Given the description of an element on the screen output the (x, y) to click on. 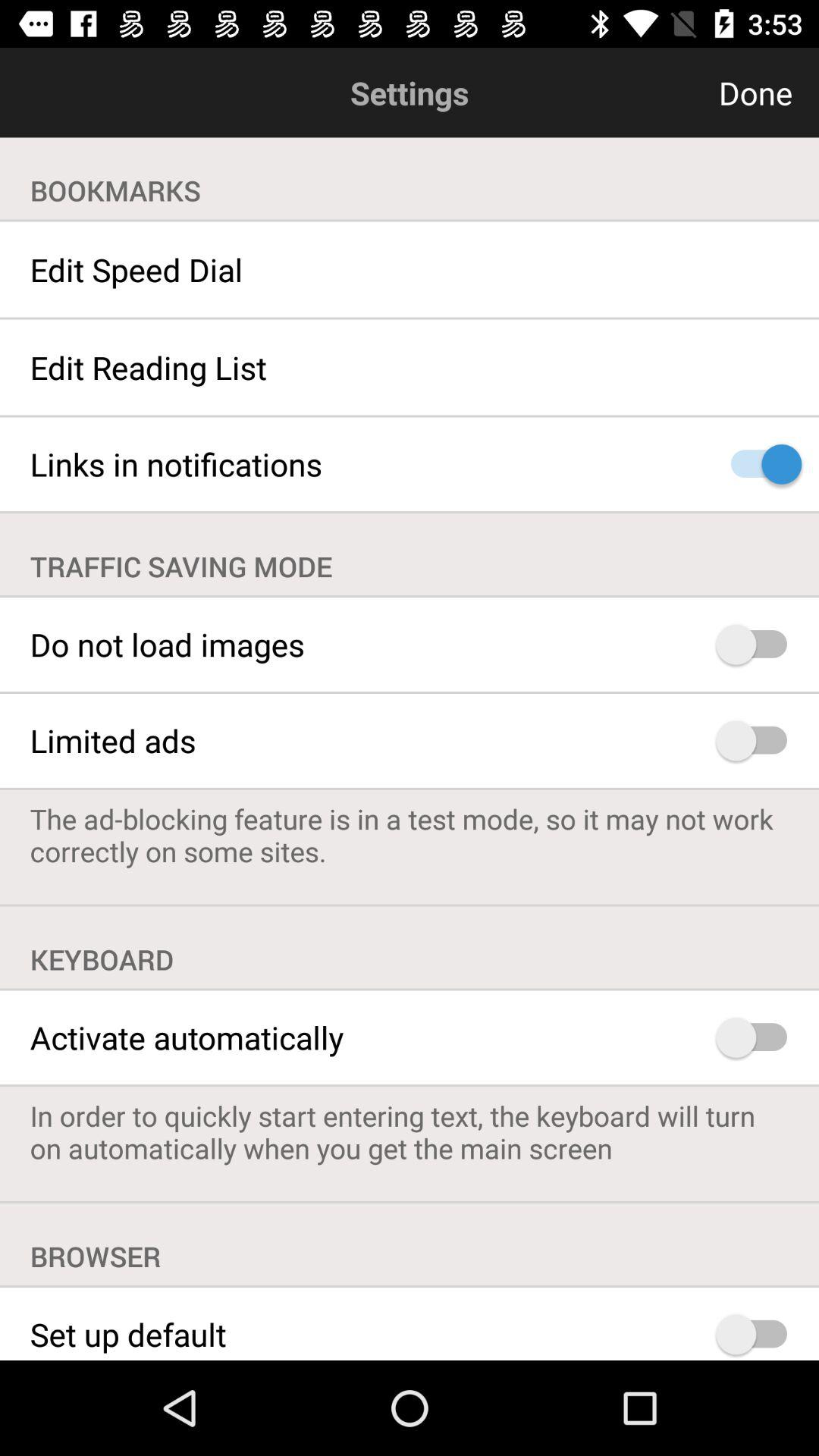
toggle auto activate (758, 1037)
